Given the description of an element on the screen output the (x, y) to click on. 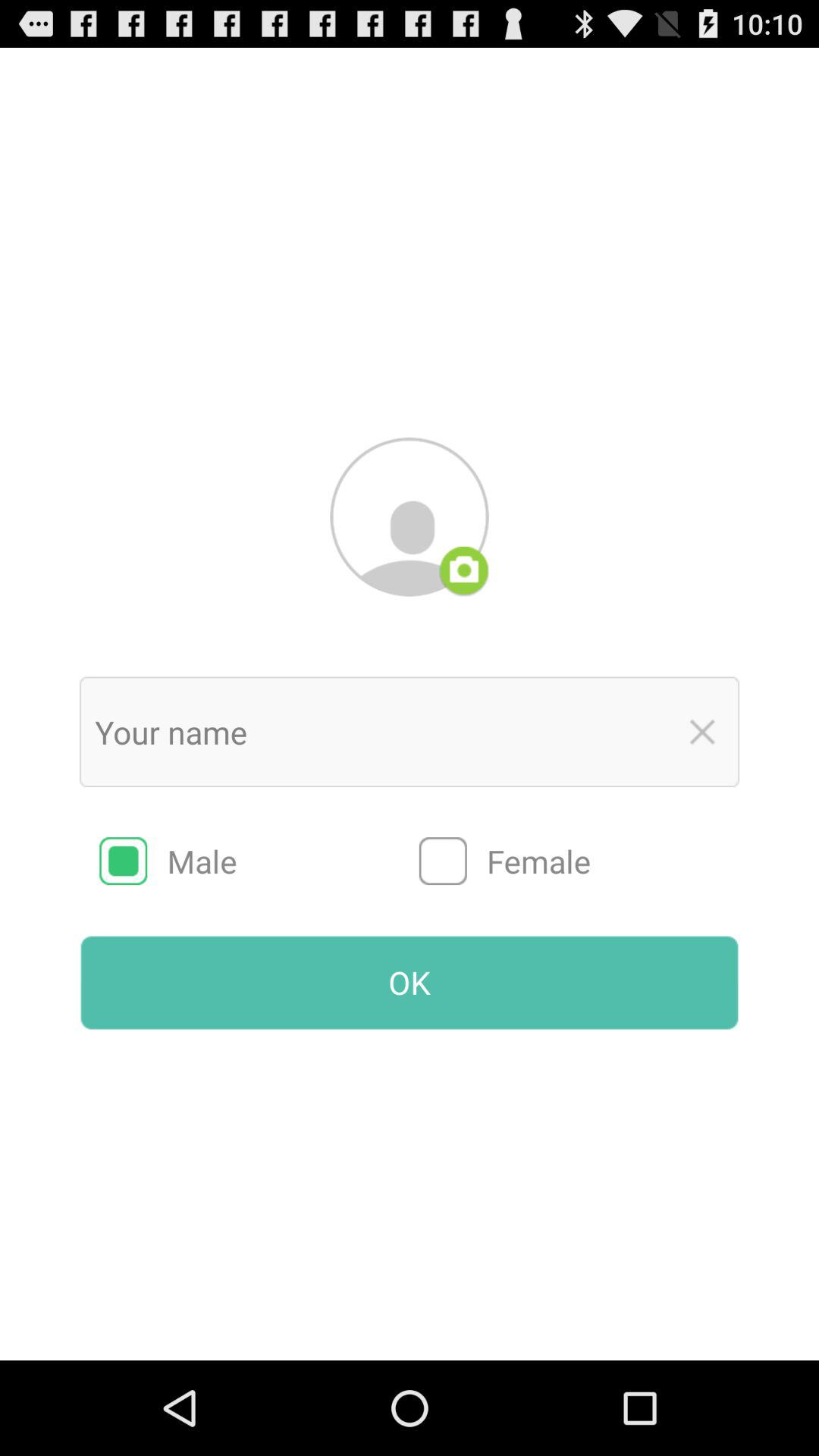
close text box (702, 731)
